Given the description of an element on the screen output the (x, y) to click on. 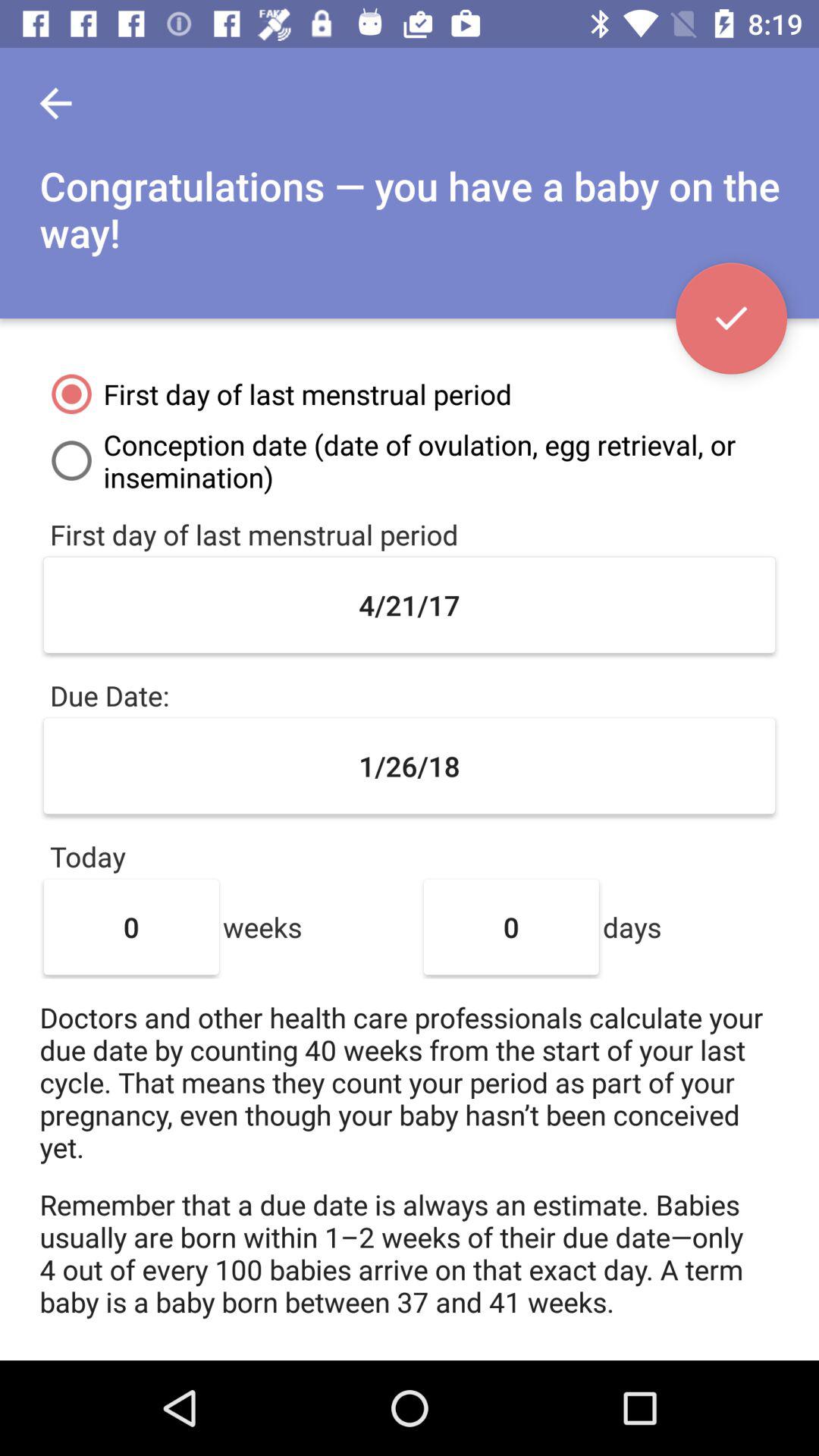
this option to correct (731, 318)
